Given the description of an element on the screen output the (x, y) to click on. 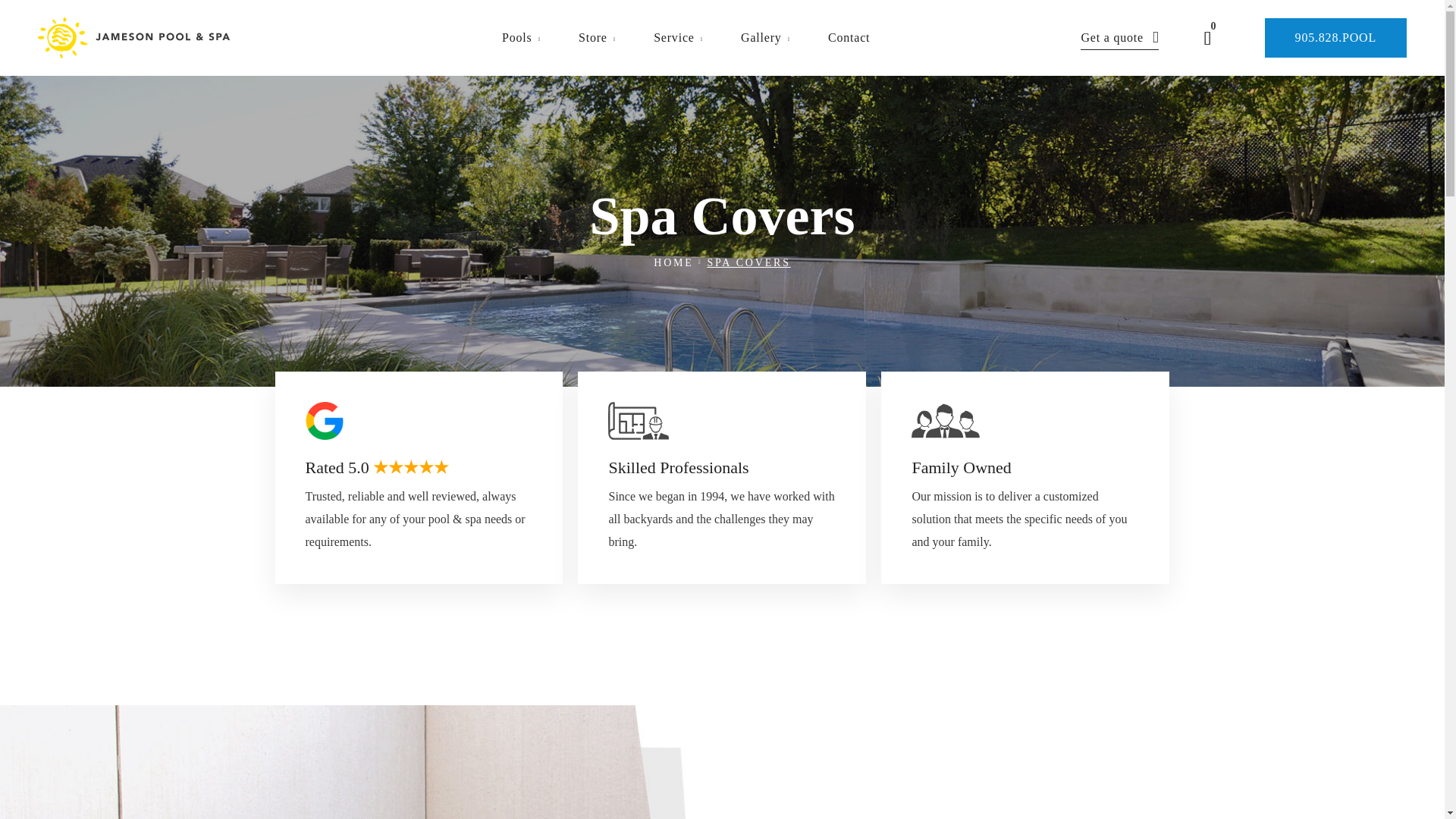
google-logo (323, 420)
Store (596, 38)
Pools (521, 38)
